Given the description of an element on the screen output the (x, y) to click on. 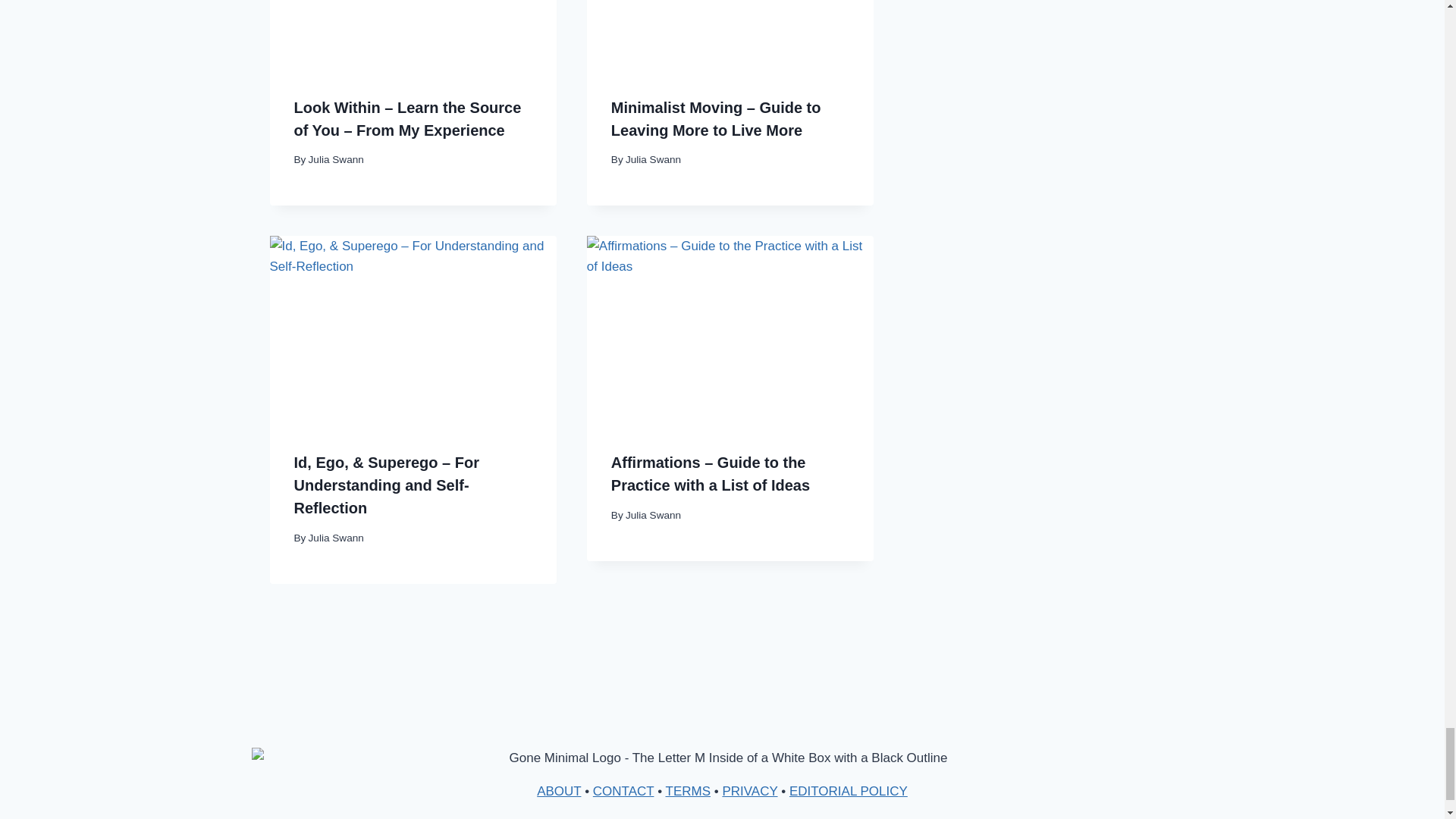
Julia Swann (336, 159)
Julia Swann (653, 159)
